Given the description of an element on the screen output the (x, y) to click on. 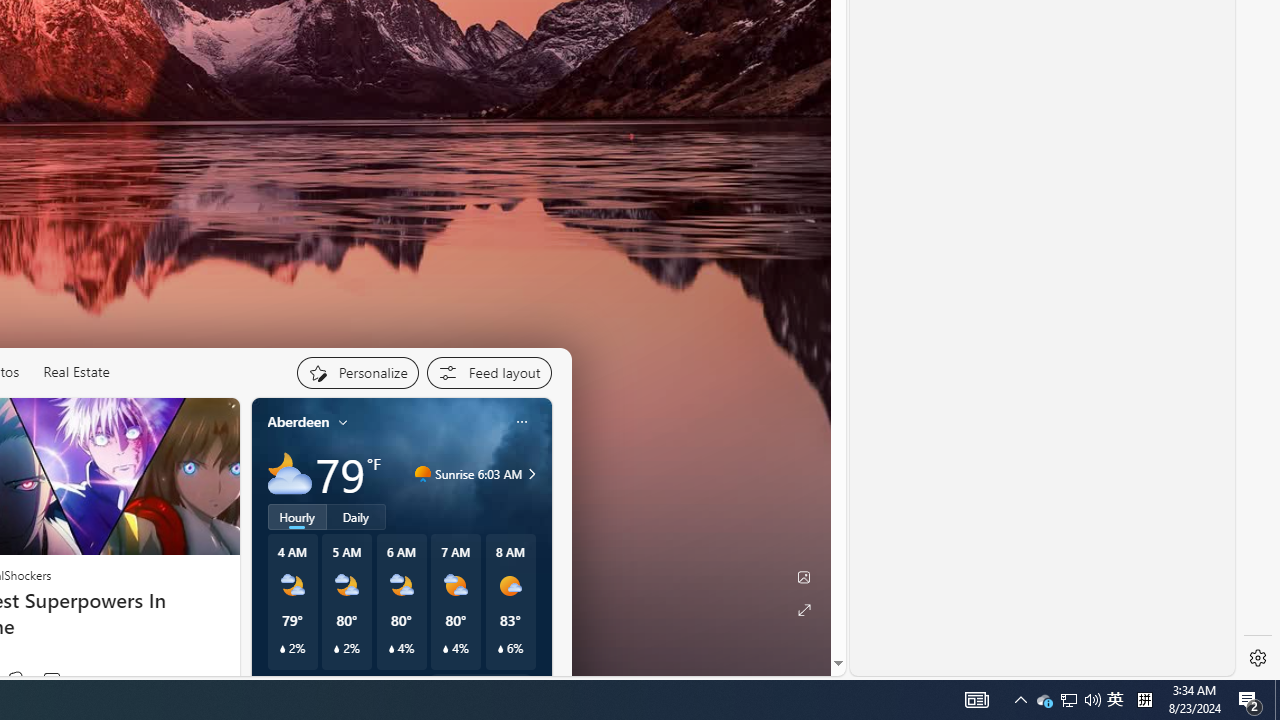
Expand background (803, 610)
See full forecast (480, 685)
Mostly cloudy (289, 474)
Edit Background (803, 577)
Class: weather-arrow-glyph (531, 474)
Aberdeen (298, 422)
